Given the description of an element on the screen output the (x, y) to click on. 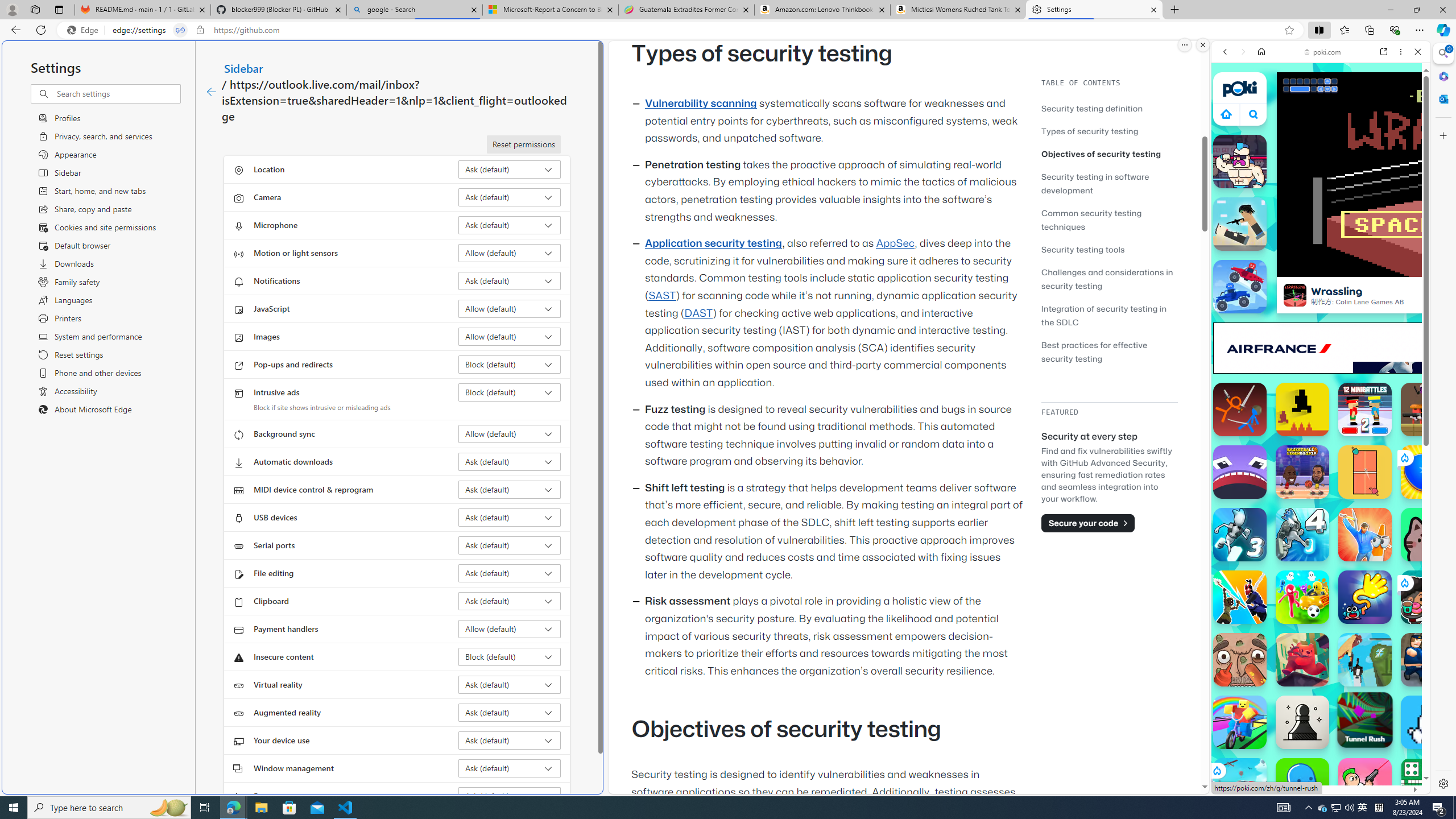
Goober World Goober World (1302, 784)
Swingo (1364, 597)
Augmented reality Ask (default) (509, 712)
Shady Bears Shady Bears (1302, 659)
Rooftop Snipers Rooftop Snipers (1239, 223)
Security testing in software development (1109, 183)
Hospital Stories: Doctor Rugby (1239, 659)
Stickman Crazy Box Stickman Crazy Box (1302, 597)
Window management Ask (default) (509, 768)
Stunt Paradise (1239, 784)
Stickman Crazy Box (1302, 597)
